Given the description of an element on the screen output the (x, y) to click on. 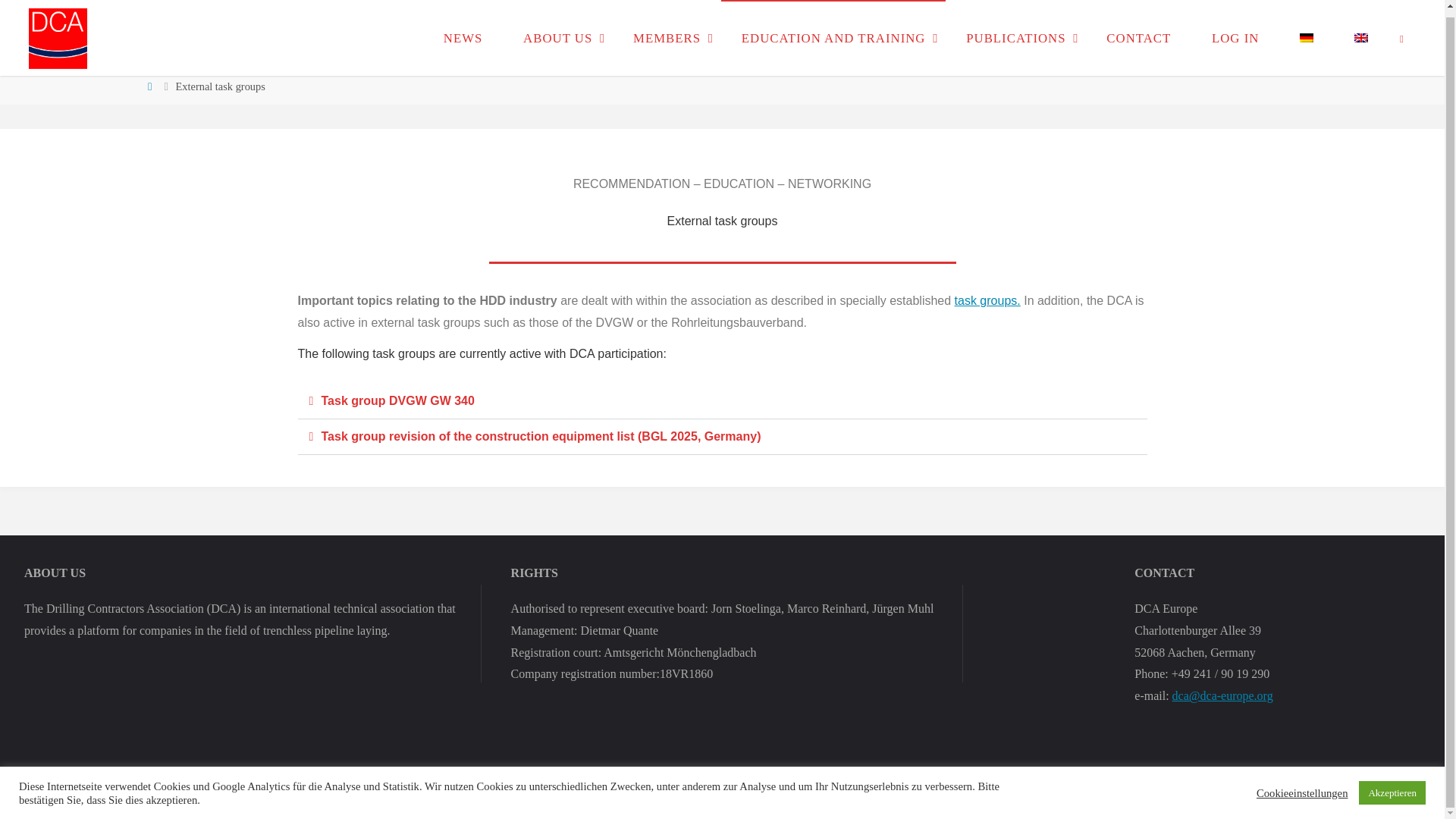
DCA Europe (58, 31)
Semantic Personal Publishing Platform (1395, 784)
Fluida WordPress Theme by Cryout Creations (1341, 784)
